Given the description of an element on the screen output the (x, y) to click on. 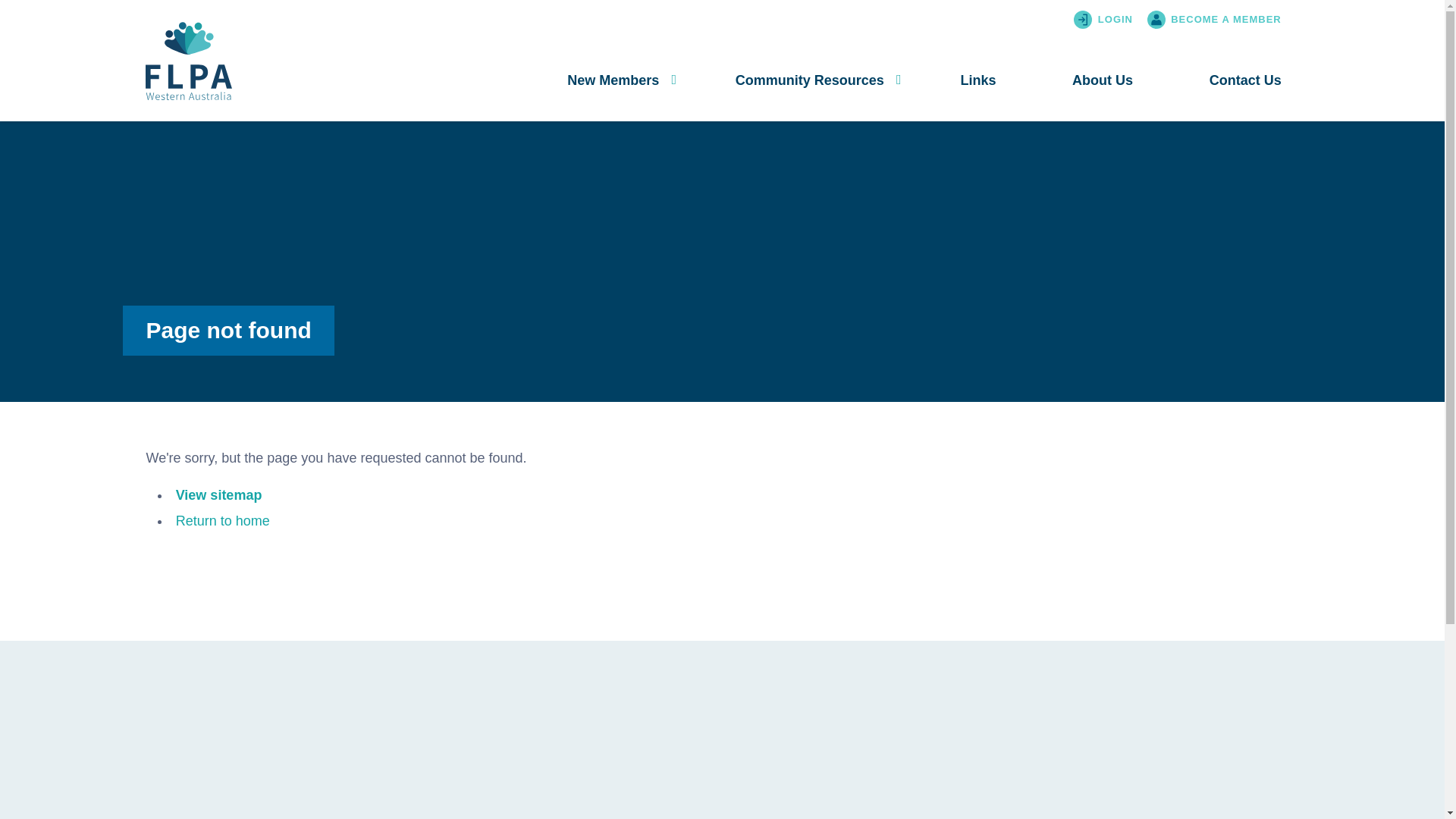
New Members Element type: text (612, 80)
 BECOME A MEMBER Element type: text (1217, 19)
 LOGIN Element type: text (1117, 19)
About Us Element type: text (1102, 80)
Contact Us Element type: text (1245, 80)
Return to home Element type: text (222, 520)
Community Resources Element type: text (809, 80)
Links Element type: text (978, 80)
View sitemap Element type: text (218, 494)
